Given the description of an element on the screen output the (x, y) to click on. 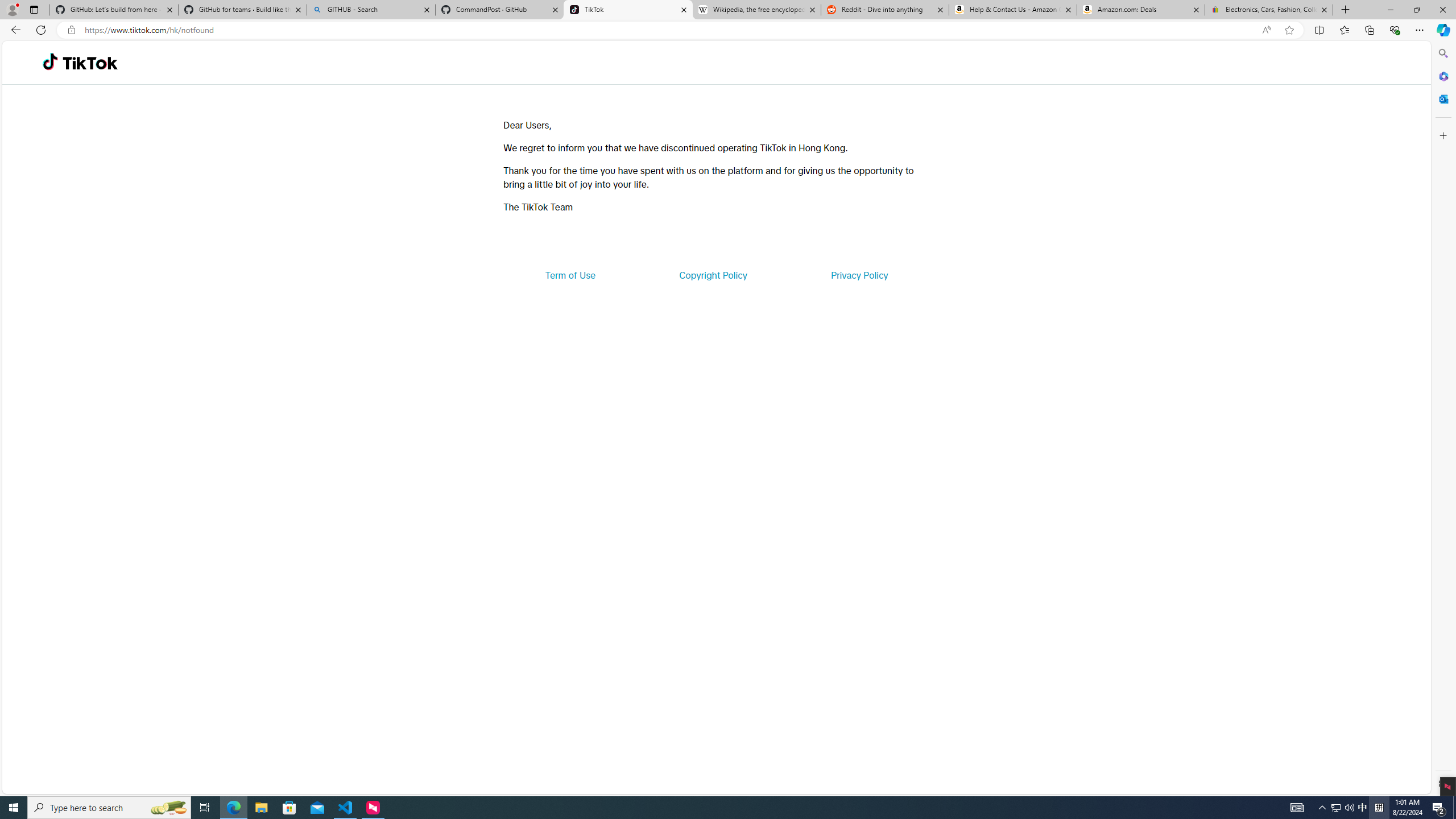
Wikipedia, the free encyclopedia (756, 9)
TikTok (628, 9)
Term of Use (569, 274)
Privacy Policy (858, 274)
